Given the description of an element on the screen output the (x, y) to click on. 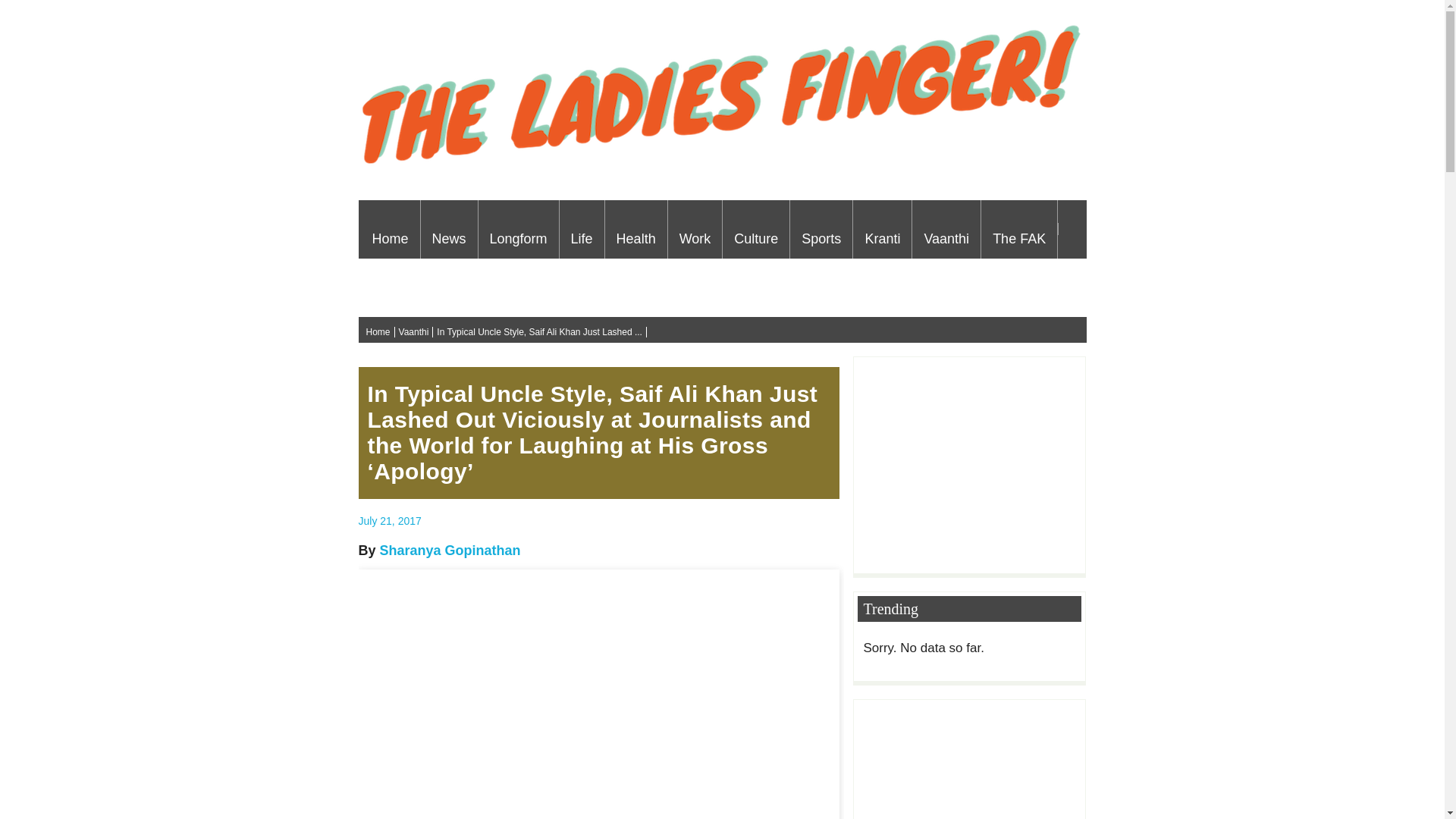
Sports (820, 228)
Work (695, 228)
Longform (519, 228)
News (448, 228)
The Ladies Finger (722, 174)
Culture (755, 228)
About (390, 287)
Vaanthi (945, 228)
Health (635, 228)
Kranti (882, 228)
The FAK (1019, 228)
Home (390, 228)
